Given the description of an element on the screen output the (x, y) to click on. 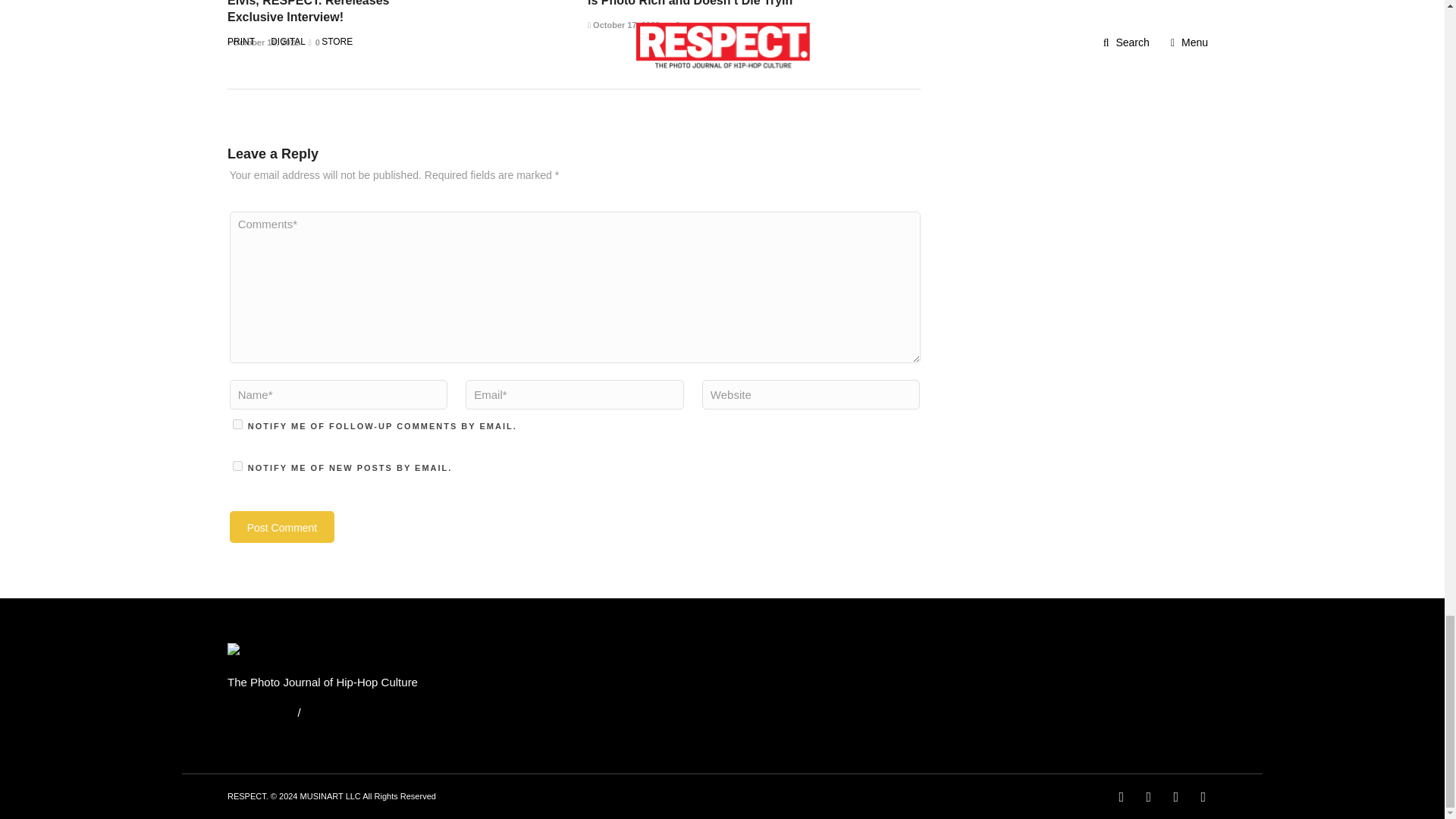
subscribe (237, 465)
subscribe (237, 424)
Post Comment (282, 526)
